Given the description of an element on the screen output the (x, y) to click on. 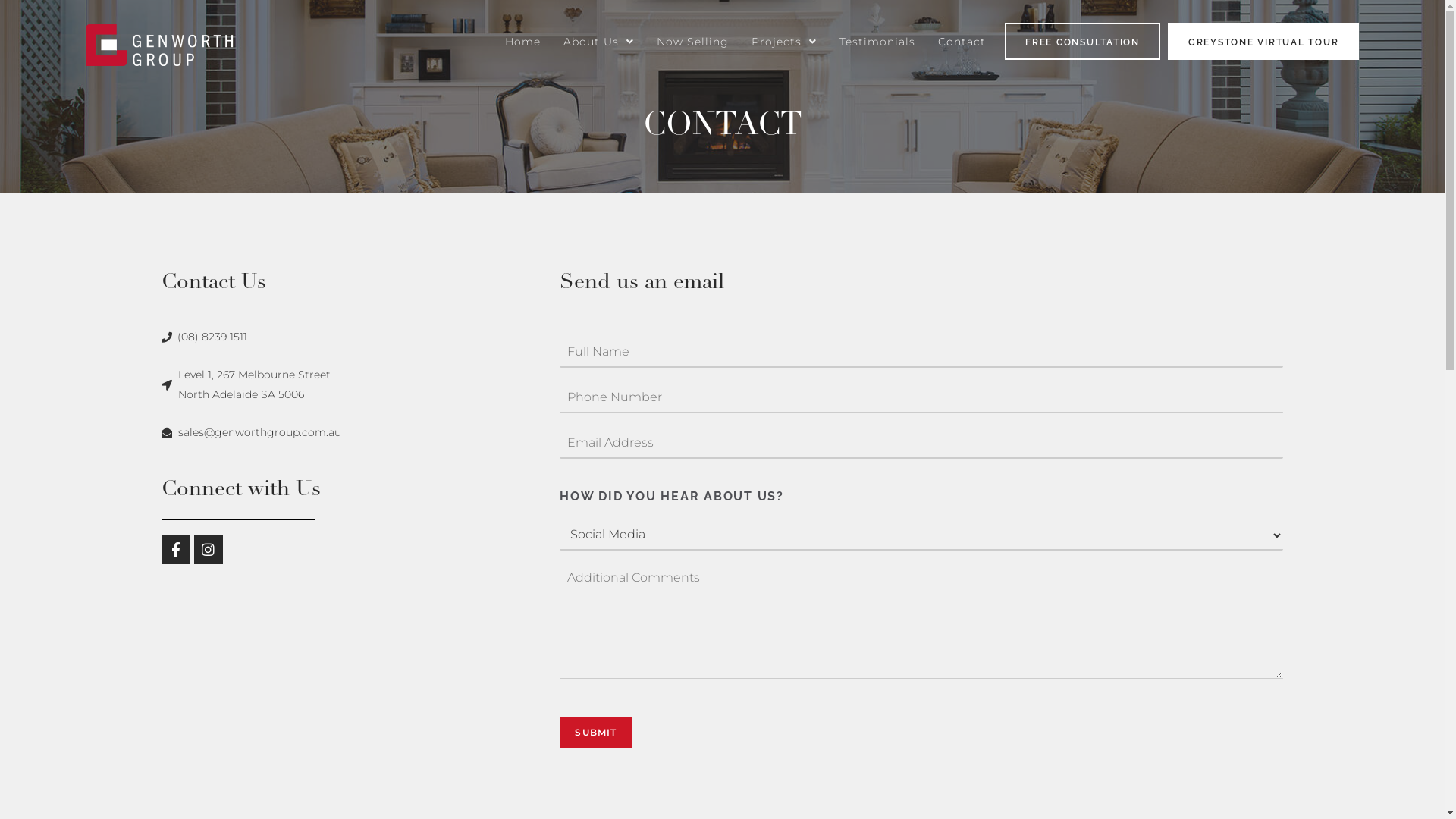
Now Selling Element type: text (692, 41)
FREE CONSULTATION Element type: text (1082, 40)
Testimonials Element type: text (877, 41)
Projects Element type: text (784, 41)
About Us Element type: text (598, 41)
Contact Element type: text (961, 41)
SUBMIT Element type: text (595, 732)
Home Element type: text (522, 41)
sales@genworthgroup.com.au Element type: text (250, 432)
Level 1, 267 Melbourne Street
North Adelaide SA 5006 Element type: text (245, 384)
 (08) 8239 1511 Element type: text (203, 336)
GREYSTONE VIRTUAL TOUR Element type: text (1263, 40)
